Given the description of an element on the screen output the (x, y) to click on. 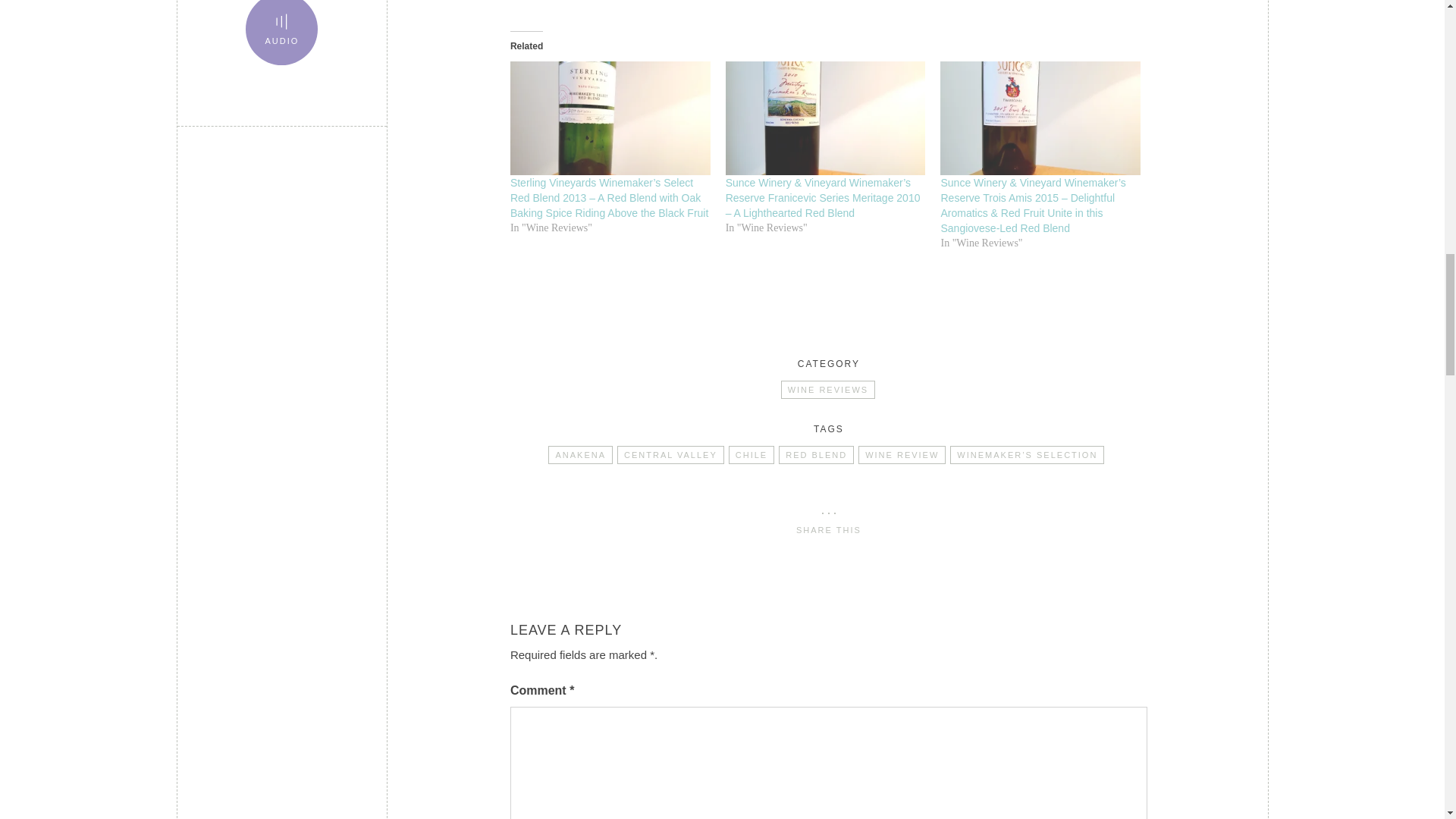
AUDIO (281, 32)
WINE REVIEWS (828, 389)
WINE REVIEW (901, 454)
CENTRAL VALLEY (670, 454)
SHARE THIS (828, 522)
ANAKENA (580, 454)
CHILE (751, 454)
RED BLEND (815, 454)
